Given the description of an element on the screen output the (x, y) to click on. 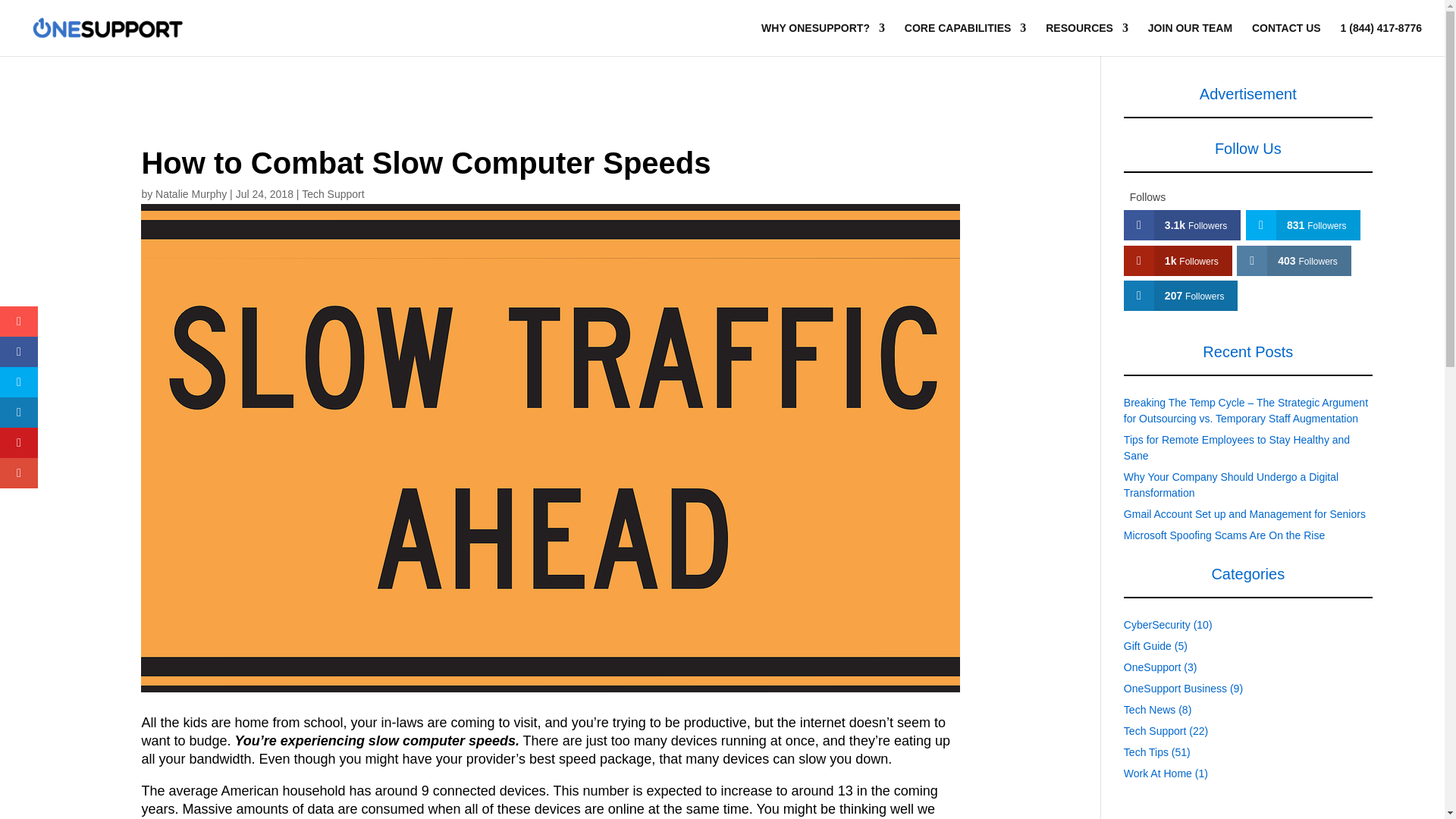
JOIN OUR TEAM (1189, 39)
CORE CAPABILITIES (965, 39)
CONTACT US (1286, 39)
WHY ONESUPPORT? (823, 39)
Posts by Natalie Murphy (191, 193)
Natalie Murphy (191, 193)
3.1k Followers (1182, 224)
RESOURCES (1086, 39)
Tech Support (333, 193)
